Given the description of an element on the screen output the (x, y) to click on. 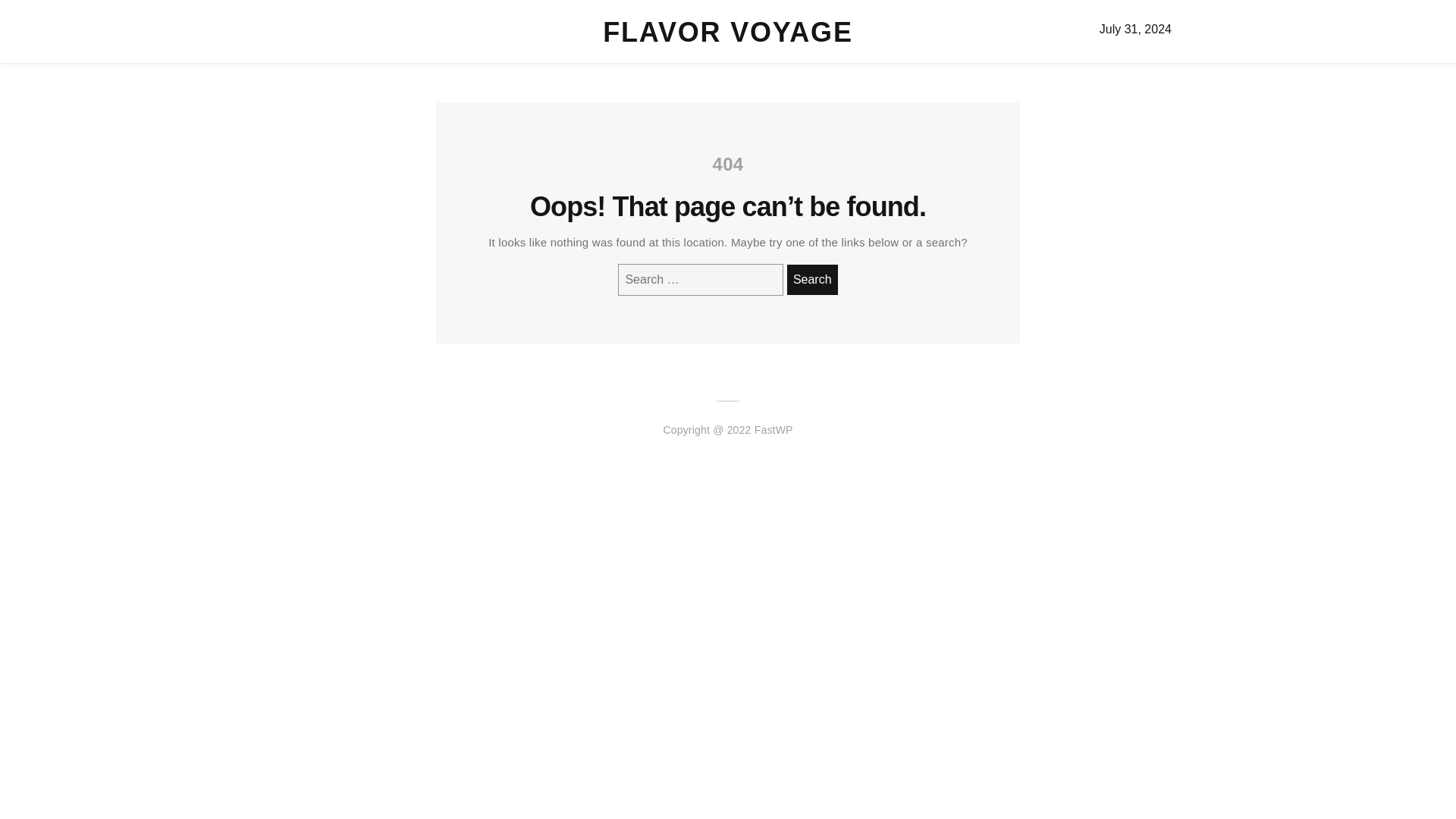
FLAVOR VOYAGE (726, 31)
Search (812, 279)
Search (812, 279)
Search (812, 279)
Flavor Voyage (726, 31)
